Given the description of an element on the screen output the (x, y) to click on. 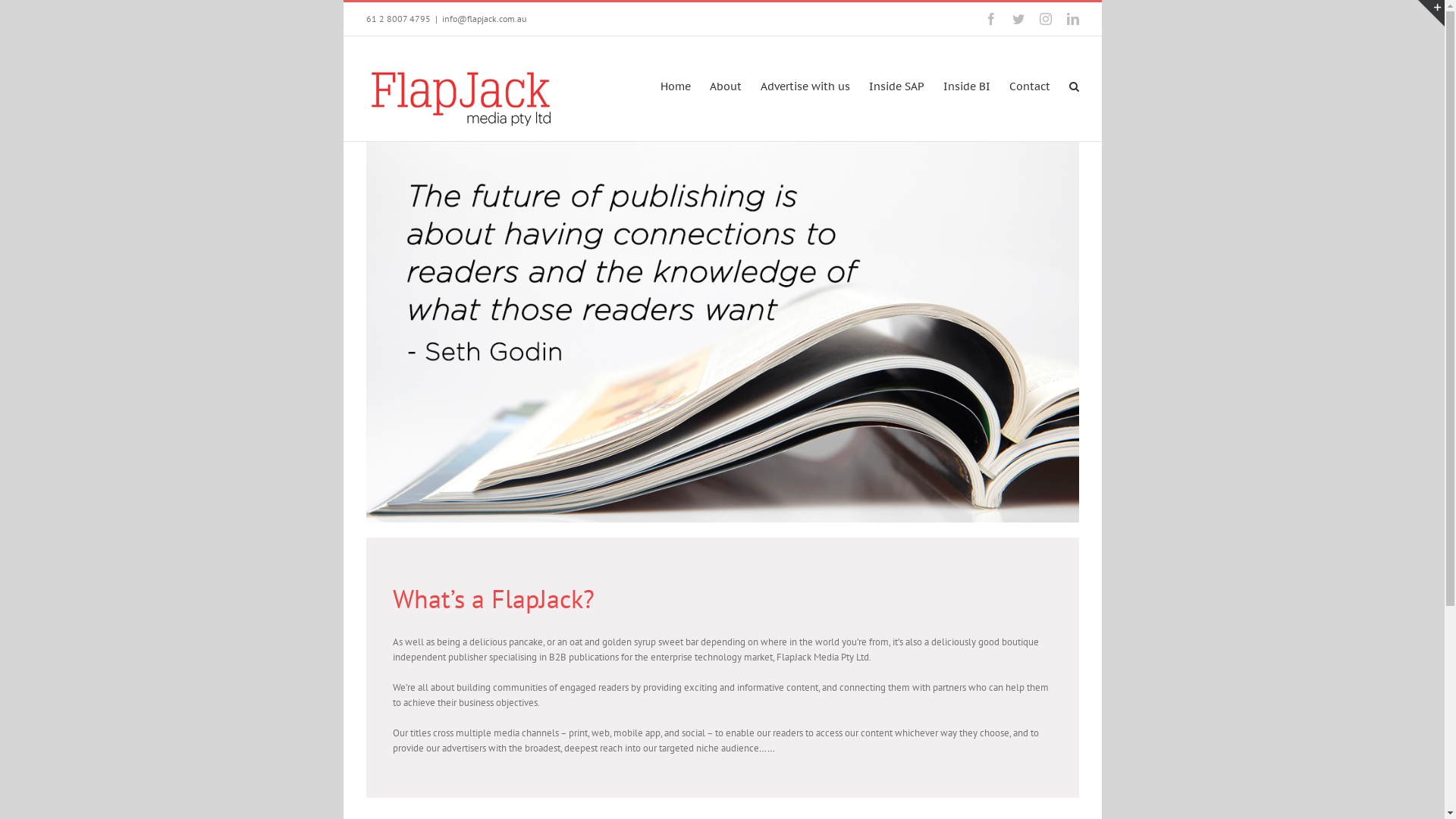
Twitter Element type: text (1017, 18)
Inside BI Element type: text (966, 85)
Contact Element type: text (1028, 85)
Home Element type: text (674, 85)
Advertise with us Element type: text (804, 85)
Facebook Element type: text (990, 18)
Linkedin Element type: text (1072, 18)
About Element type: text (725, 85)
Instagram Element type: text (1044, 18)
info@flapjack.com.au Element type: text (483, 18)
Inside SAP Element type: text (896, 85)
Stack of magazines Element type: hover (721, 331)
